Given the description of an element on the screen output the (x, y) to click on. 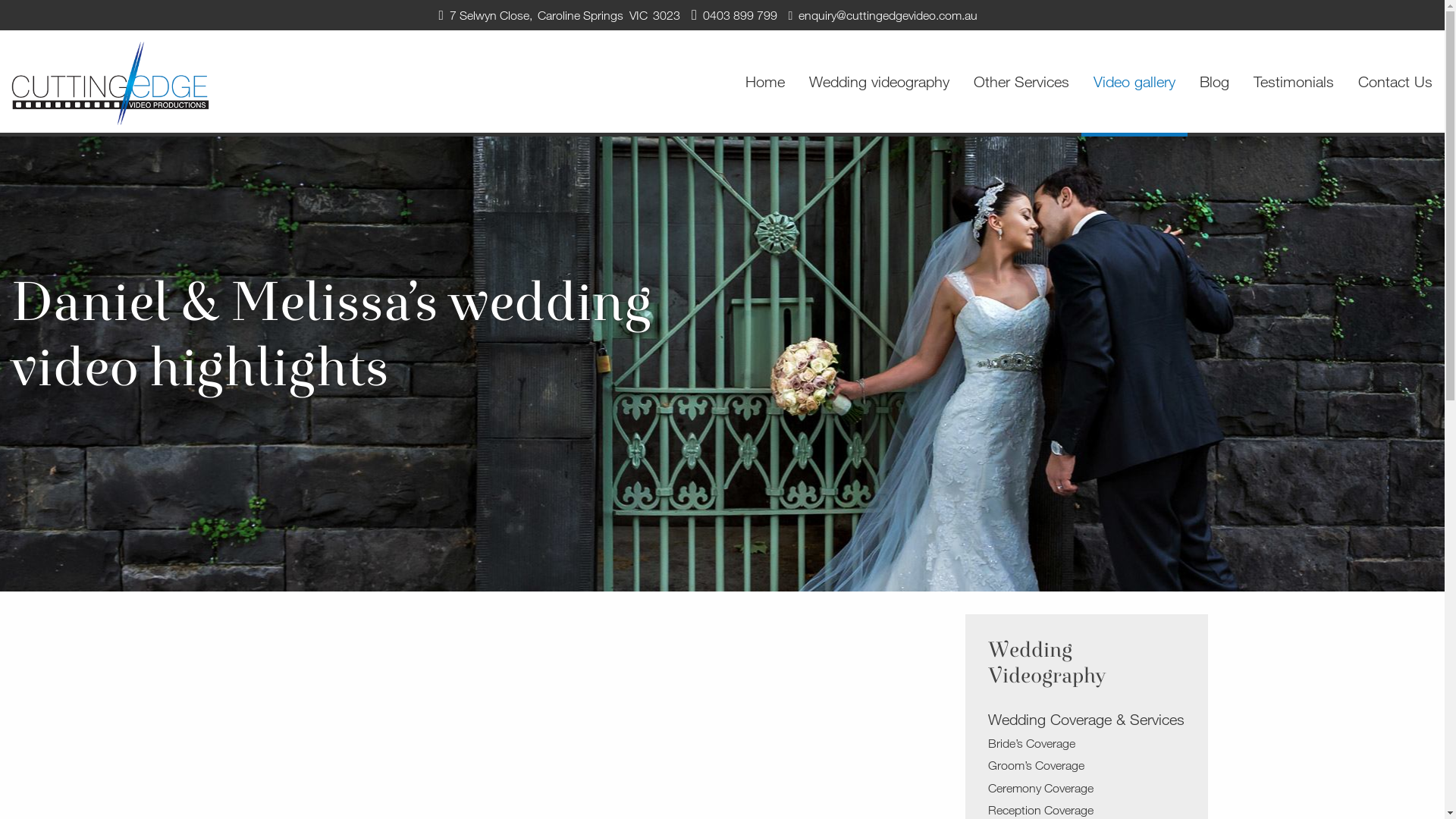
Home Element type: text (765, 83)
Wedding Coverage & Services Element type: text (1085, 719)
Other Services Element type: text (1021, 83)
Video gallery Element type: text (1134, 83)
Wedding videography Element type: text (879, 83)
Testimonials Element type: text (1293, 83)
Ceremony Coverage Element type: text (1085, 788)
Blog Element type: text (1214, 83)
Contact Us Element type: text (1395, 83)
